Given the description of an element on the screen output the (x, y) to click on. 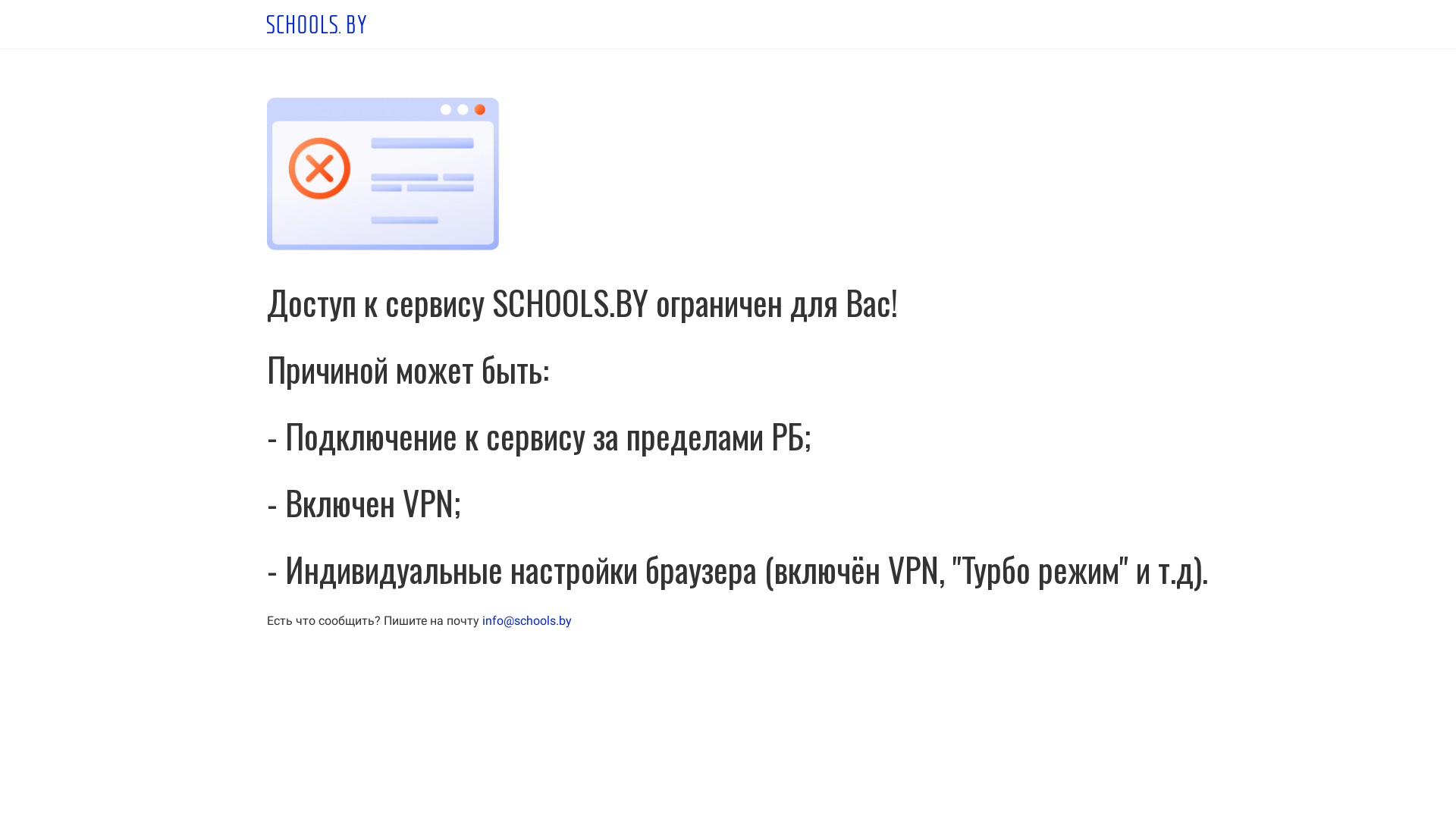
info@schools.by Element type: text (526, 620)
